Given the description of an element on the screen output the (x, y) to click on. 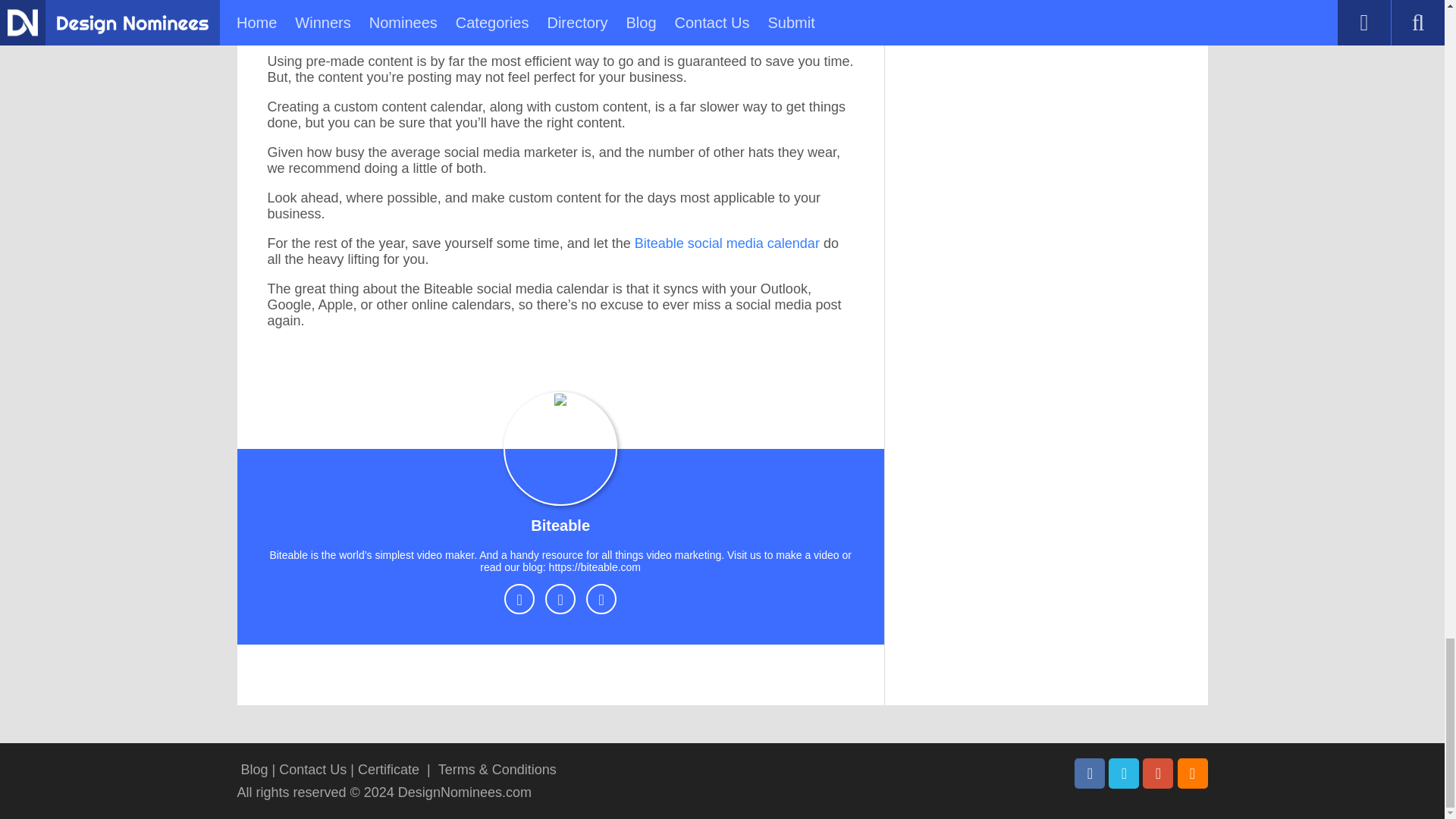
Rss (1191, 773)
Facebook (1089, 773)
Twitter (1123, 773)
Pinterest (1157, 773)
